Given the description of an element on the screen output the (x, y) to click on. 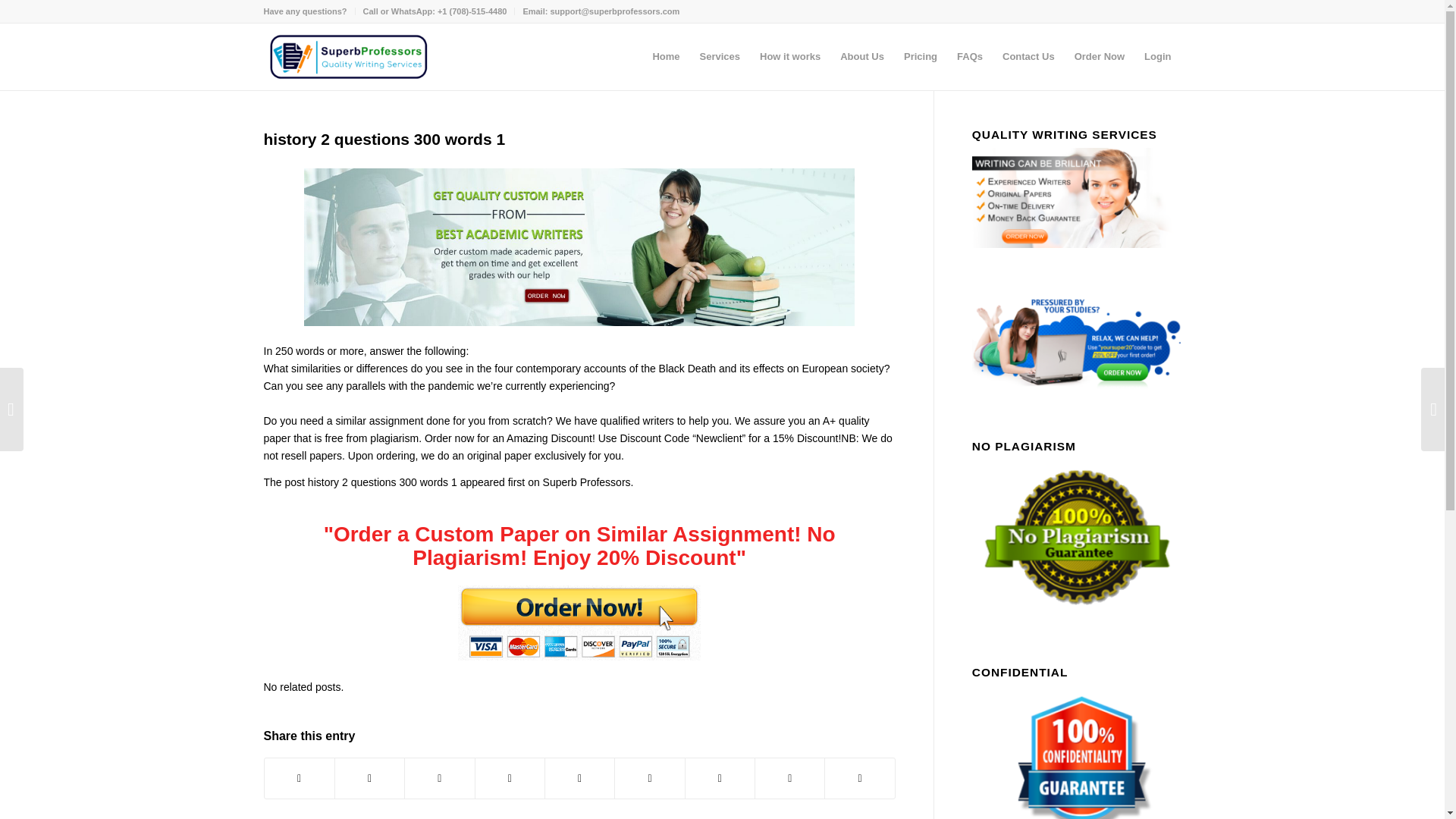
About Us (861, 56)
Services (720, 56)
Permanent Link: history 2 questions 300 words 1 (384, 139)
Order Now (1099, 56)
Contact Us (1028, 56)
How it works (789, 56)
Have any questions? (305, 11)
history 2 questions 300 words 1 (384, 139)
